Given the description of an element on the screen output the (x, y) to click on. 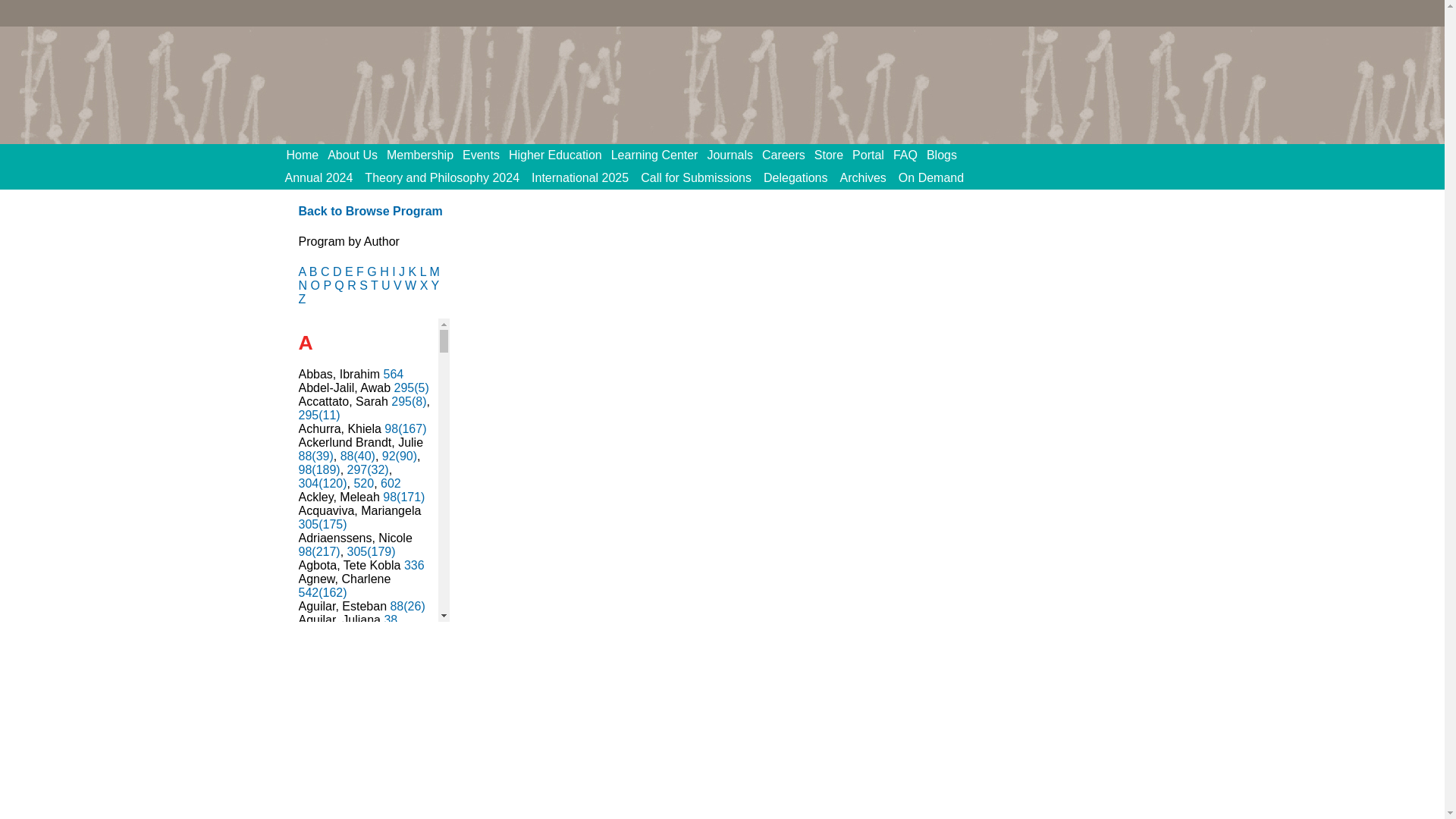
Call for Submissions (695, 178)
Higher Education (559, 155)
Delegations (795, 178)
Archives (863, 178)
Theory and Philosophy 2024 (441, 178)
Learning Center (659, 155)
Annual 2024 (319, 178)
Back to search (370, 210)
Blogs (946, 155)
Home (307, 155)
Journals (733, 155)
Membership (425, 155)
On Demand (930, 178)
International 2025 (579, 178)
About Us (357, 155)
